Given the description of an element on the screen output the (x, y) to click on. 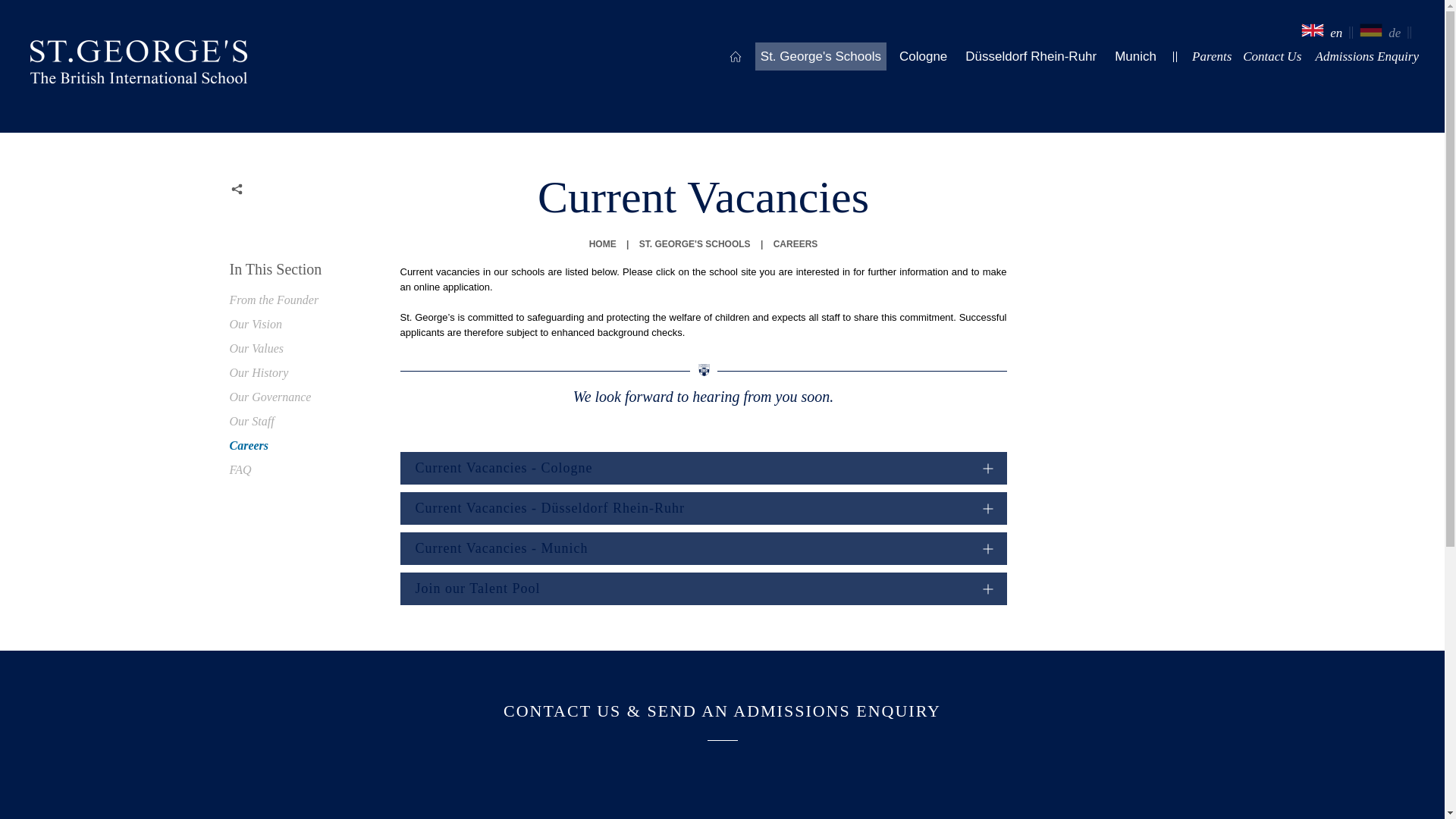
St. George's - The British International School (138, 65)
Contact Us (1271, 56)
Contact Us (1366, 56)
Share This Page (237, 189)
Parent Portal (1211, 56)
